Given the description of an element on the screen output the (x, y) to click on. 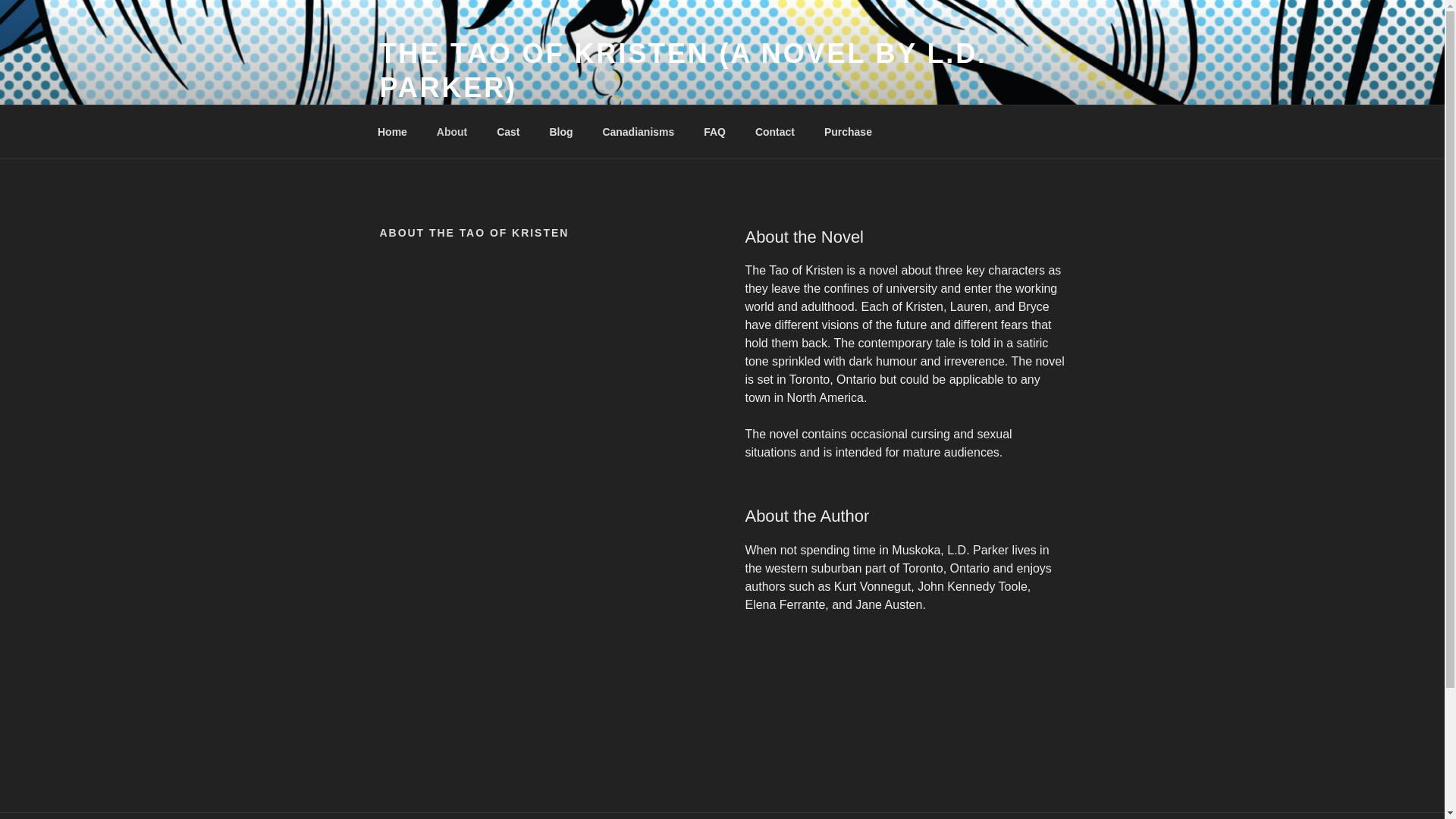
Purchase (847, 131)
Blog (560, 131)
FAQ (714, 131)
Canadianisms (638, 131)
About (451, 131)
Contact (774, 131)
Home (392, 131)
Cast (507, 131)
